Given the description of an element on the screen output the (x, y) to click on. 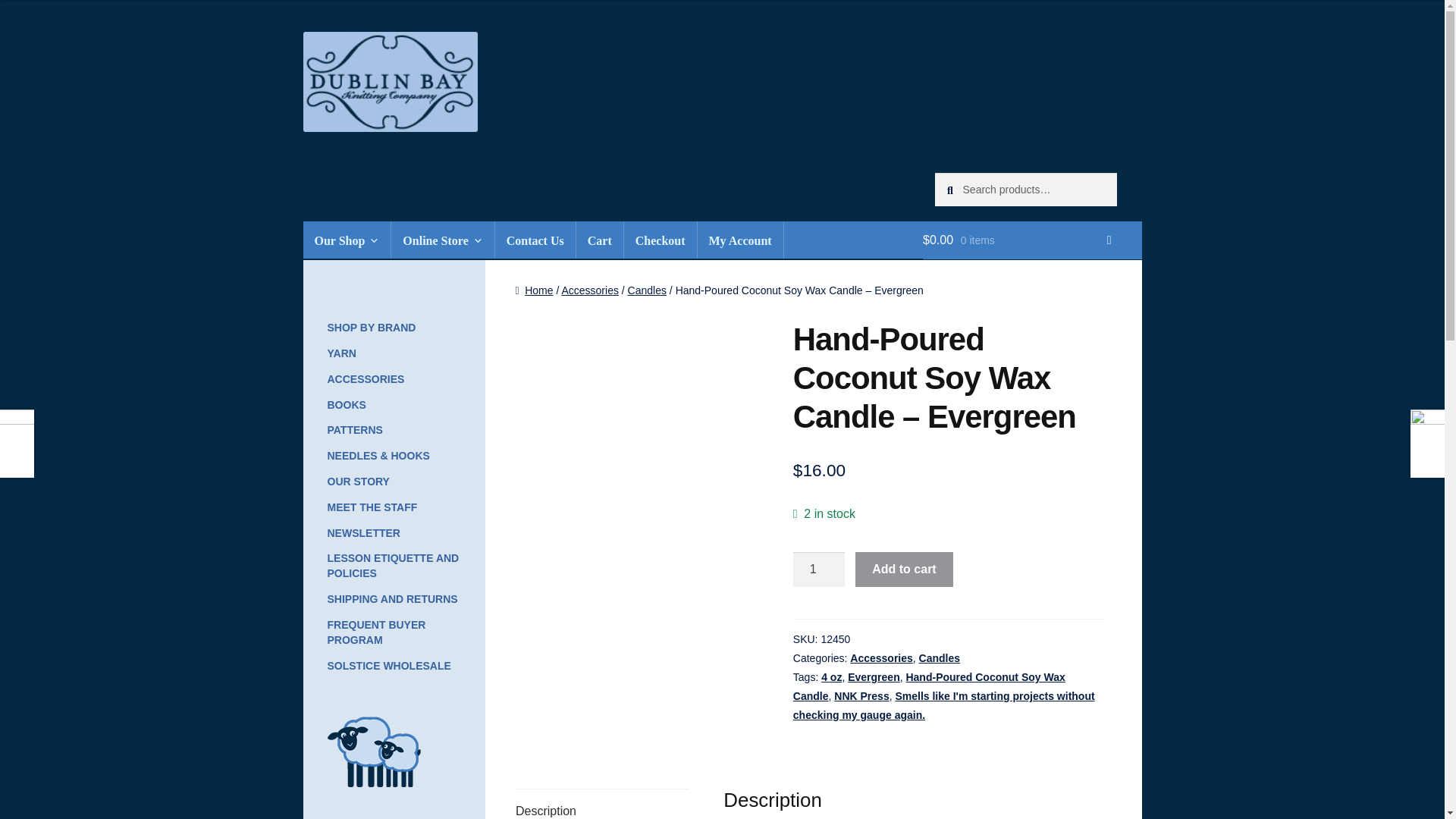
View your shopping cart (1032, 240)
Our Shop (346, 239)
1 (818, 569)
Online Store (442, 239)
